Given the description of an element on the screen output the (x, y) to click on. 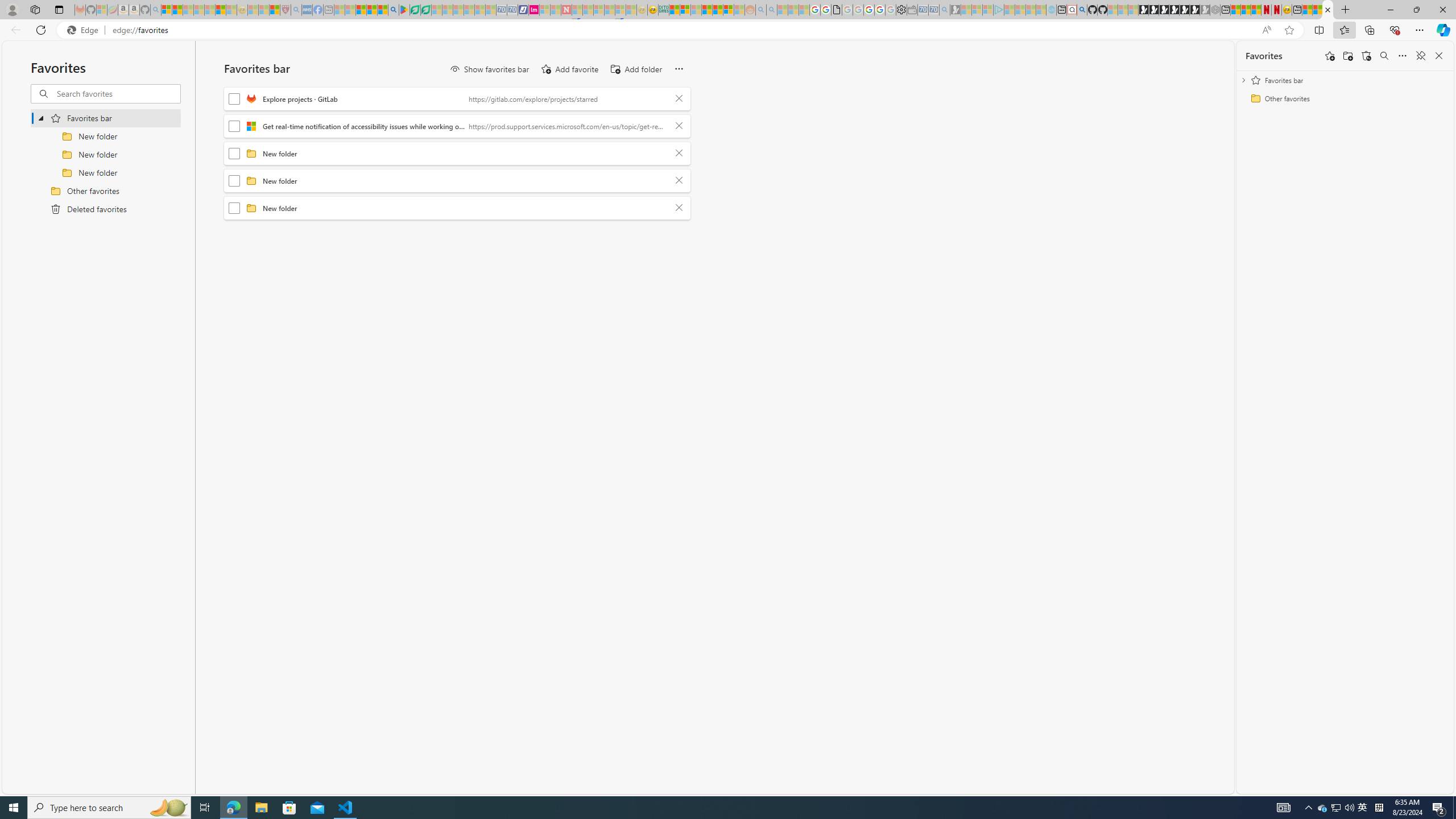
Delete (679, 207)
Restore deleted favorites (1366, 55)
github - Search (1081, 9)
NCL Adult Asthma Inhaler Choice Guideline - Sleeping (307, 9)
